Given the description of an element on the screen output the (x, y) to click on. 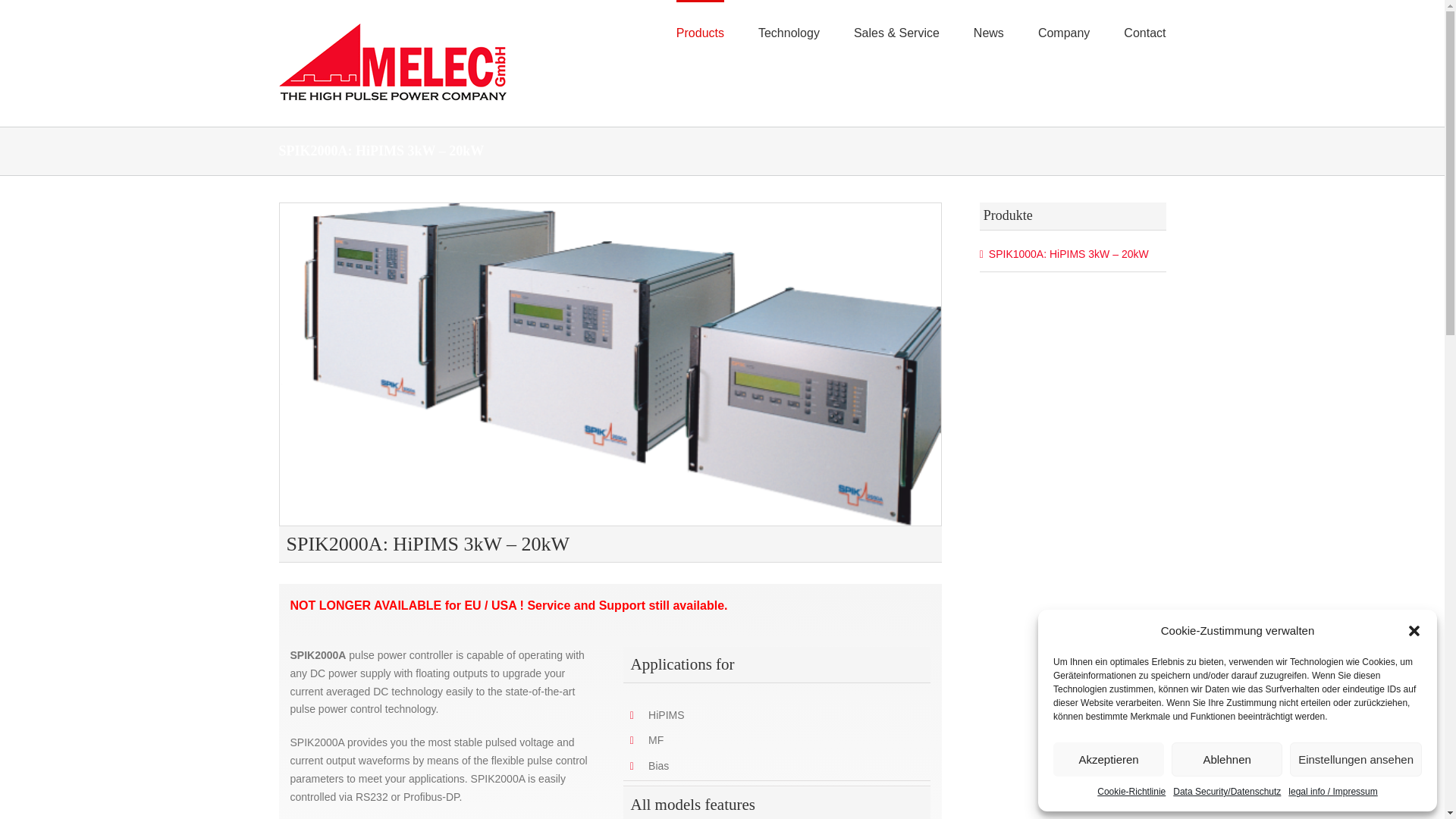
Ablehnen (1227, 759)
Cookie-Richtlinie (1131, 791)
Products (700, 31)
Akzeptieren (1107, 759)
Technology (788, 31)
Einstellungen ansehen (1356, 759)
